Given the description of an element on the screen output the (x, y) to click on. 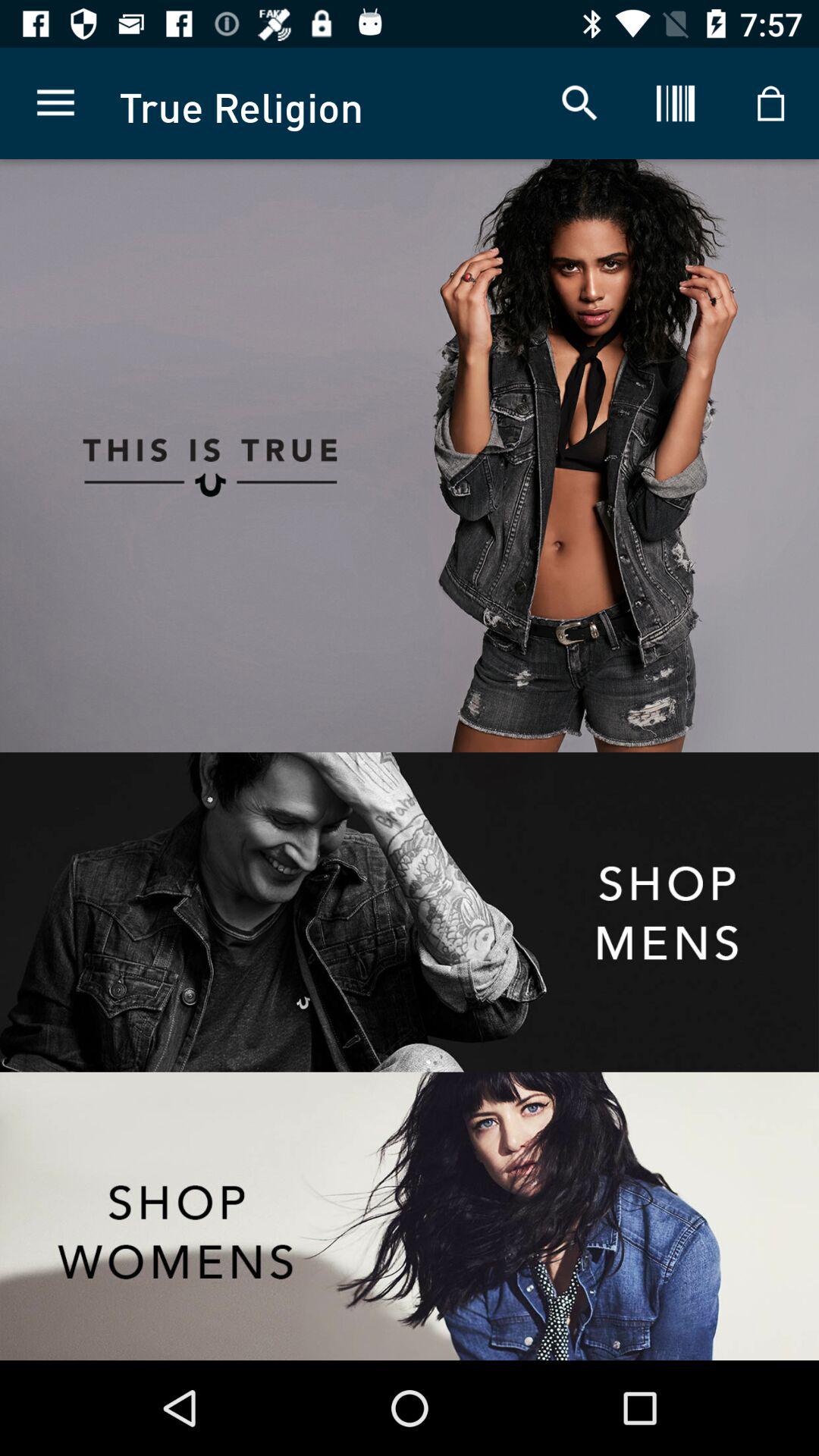
open specific app menu (409, 912)
